Given the description of an element on the screen output the (x, y) to click on. 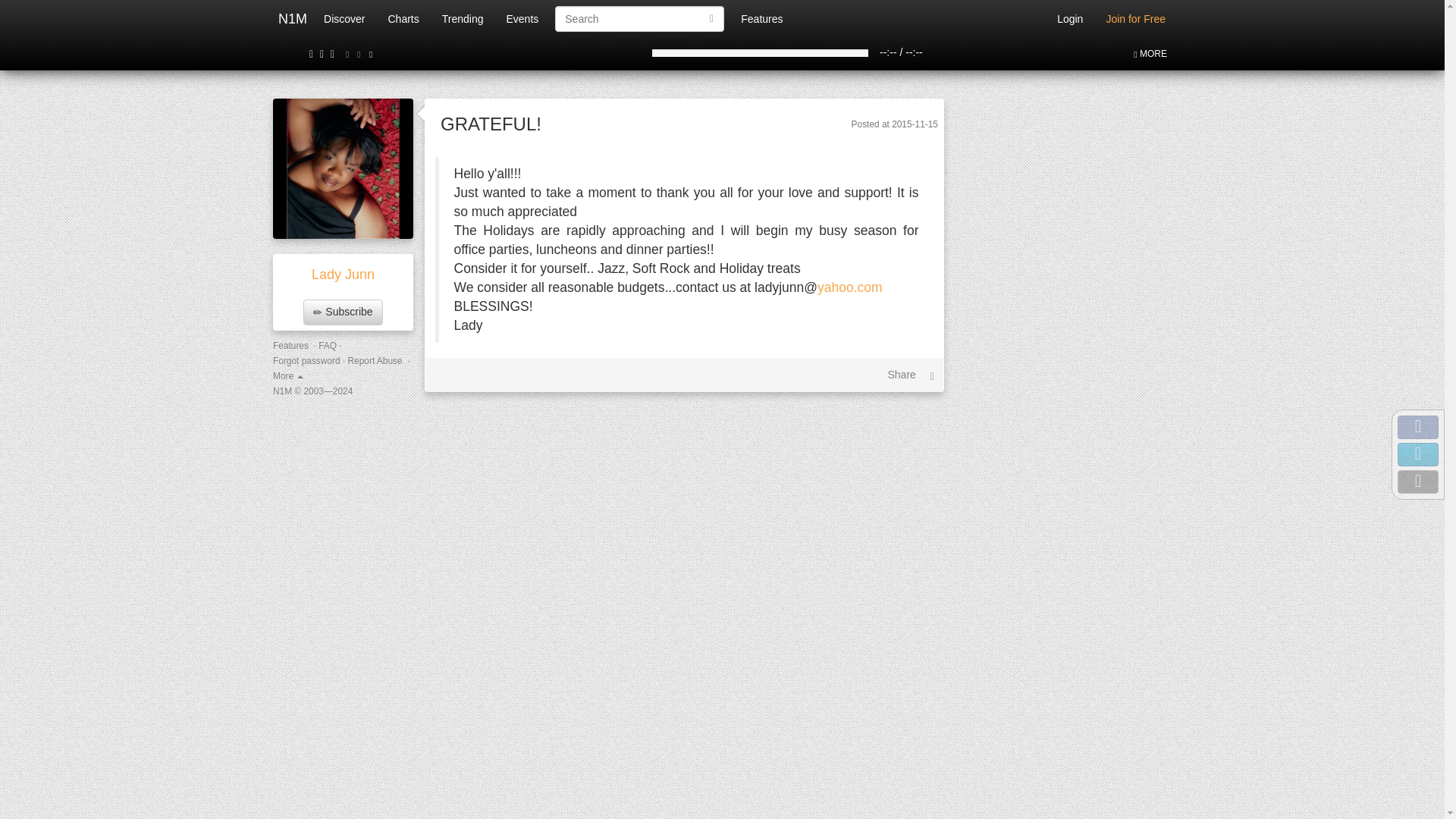
yahoo.com (849, 287)
FAQ (327, 345)
Subscribe (341, 312)
Features (290, 345)
Report Abuse (374, 360)
More (287, 376)
Subscribe (341, 312)
Forgot password (306, 360)
Search (710, 18)
Lady Junn (342, 273)
Share (901, 375)
Show player (1150, 53)
